Given the description of an element on the screen output the (x, y) to click on. 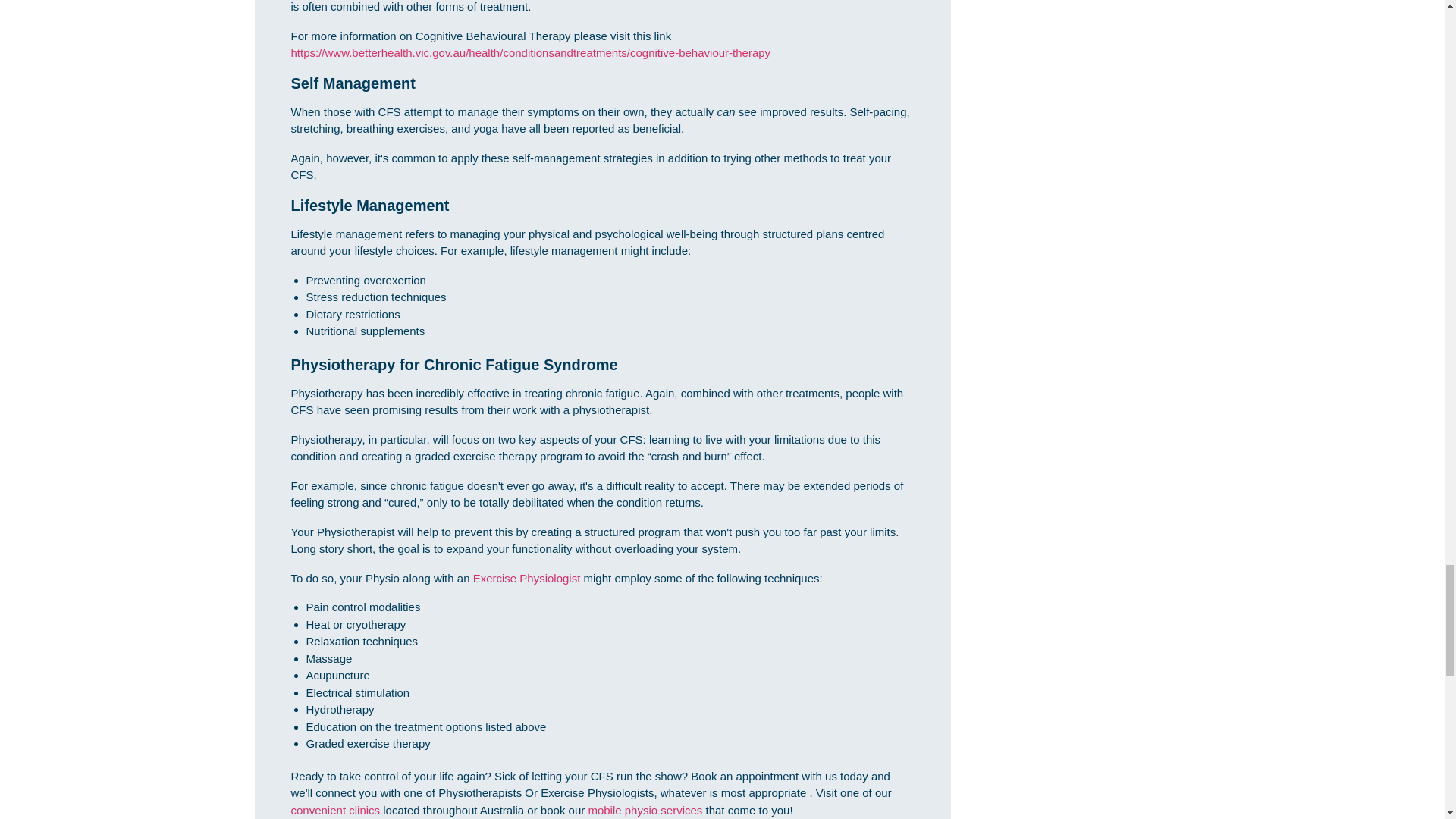
Exercise Physiologist (526, 577)
mobile physio services (644, 809)
convenient clinics (335, 809)
